Given the description of an element on the screen output the (x, y) to click on. 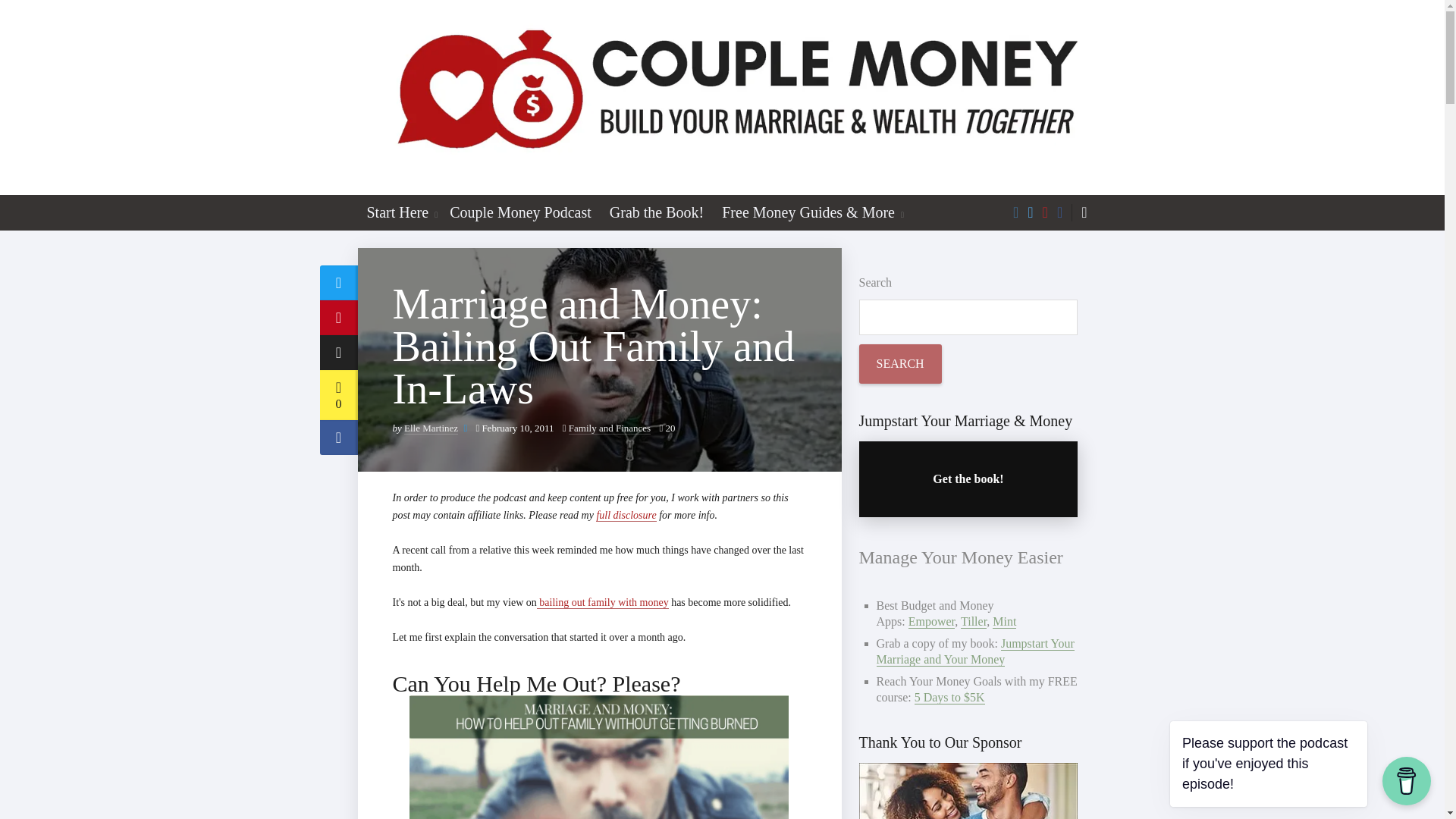
Couple Money (722, 97)
20 (667, 427)
bailing out family with money (602, 602)
Grab the Book! (656, 212)
full disclosure (625, 515)
Elle Martinez (431, 427)
Family and Finances (609, 427)
Couple Money Podcast (520, 212)
Start Here (395, 212)
